Given the description of an element on the screen output the (x, y) to click on. 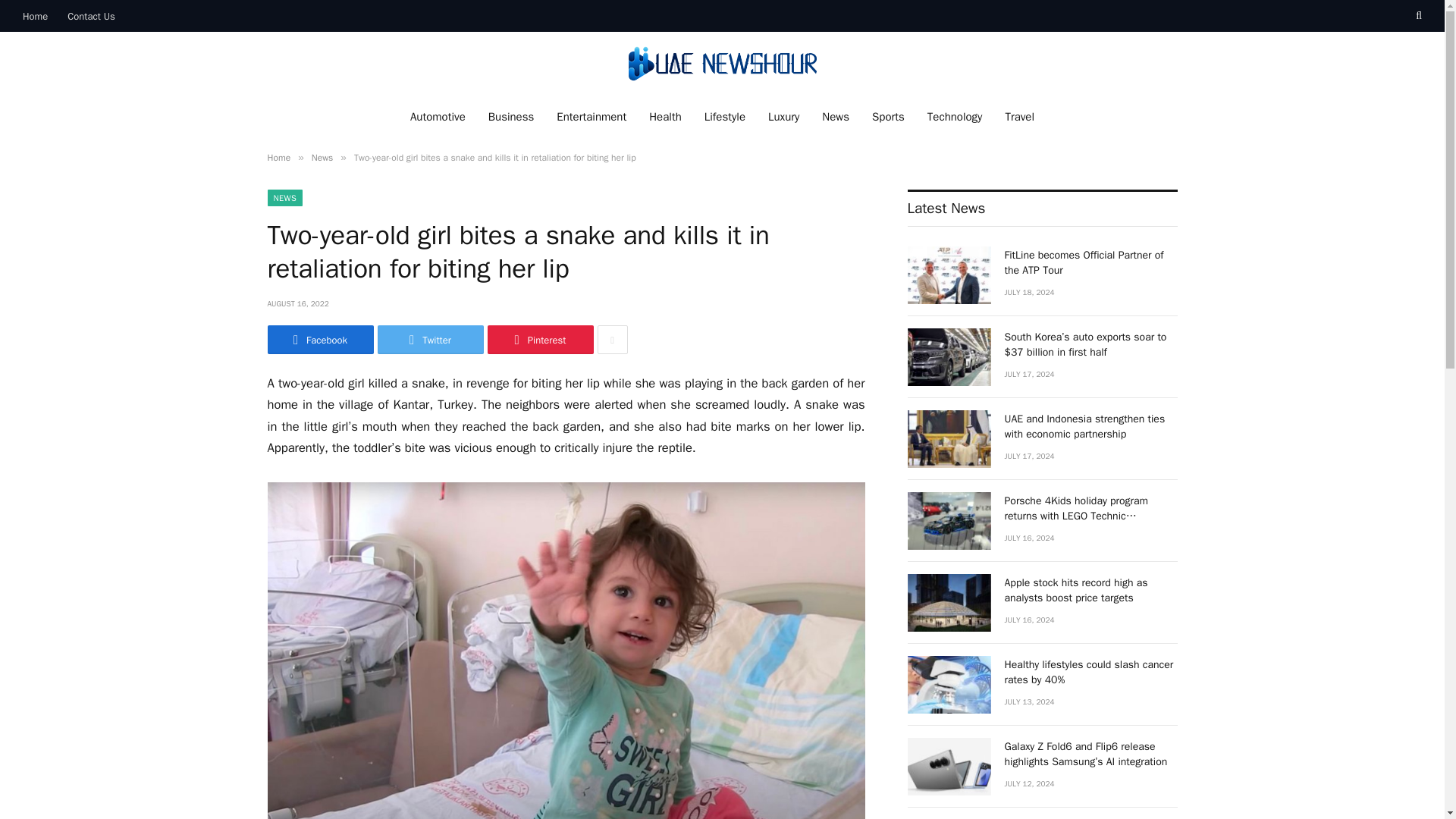
Facebook (319, 339)
Travel (1018, 116)
Twitter (430, 339)
News (835, 116)
News (322, 157)
Share on Facebook (319, 339)
Technology (954, 116)
Lifestyle (725, 116)
Luxury (783, 116)
Health (665, 116)
Business (511, 116)
Pinterest (539, 339)
Search (1417, 15)
Share on Pinterest (539, 339)
UAE Newshour (721, 63)
